Given the description of an element on the screen output the (x, y) to click on. 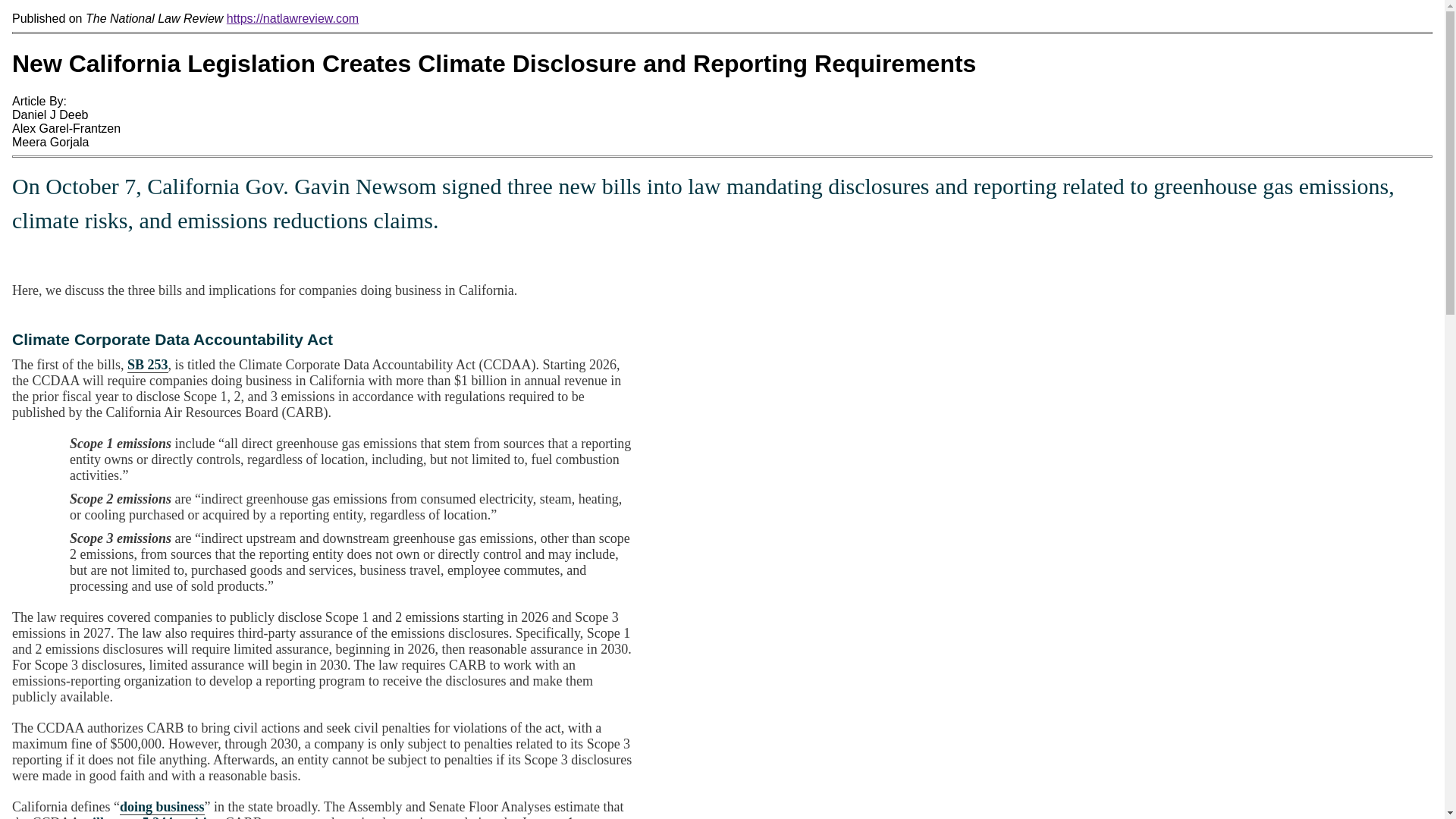
doing business (162, 806)
will cover 5,344 entities (150, 816)
SB 253 (148, 365)
